Given the description of an element on the screen output the (x, y) to click on. 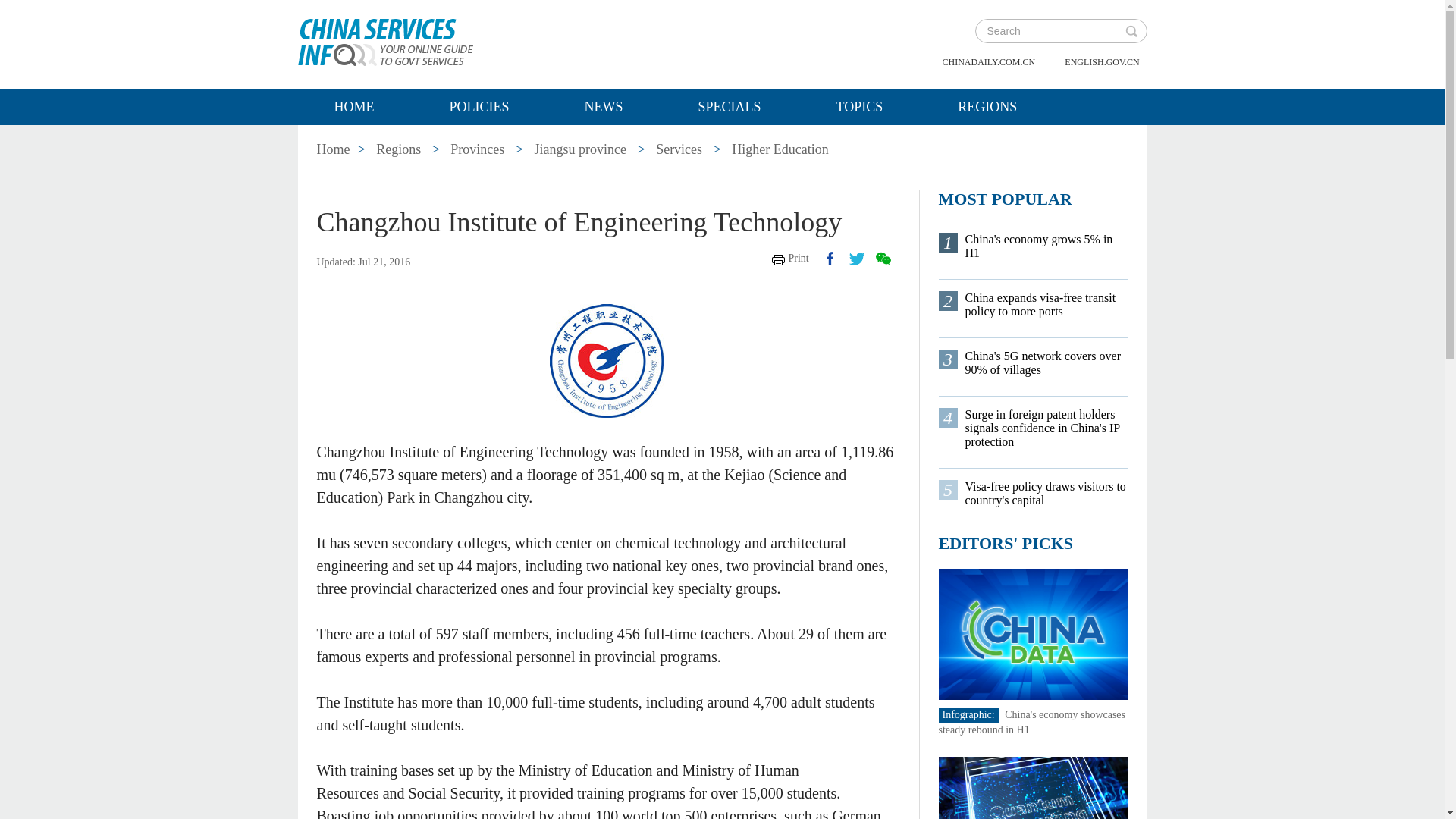
Policies (478, 106)
HOME (353, 106)
News (603, 106)
EDITORS' PICKS (1006, 542)
Regions (397, 149)
Specials (729, 106)
print (790, 258)
Provinces (476, 149)
Higher Education (780, 149)
POLICIES (478, 106)
facebook (829, 258)
search (1131, 30)
China expands visa-free transit policy to more ports (1044, 304)
Home (333, 149)
